Given the description of an element on the screen output the (x, y) to click on. 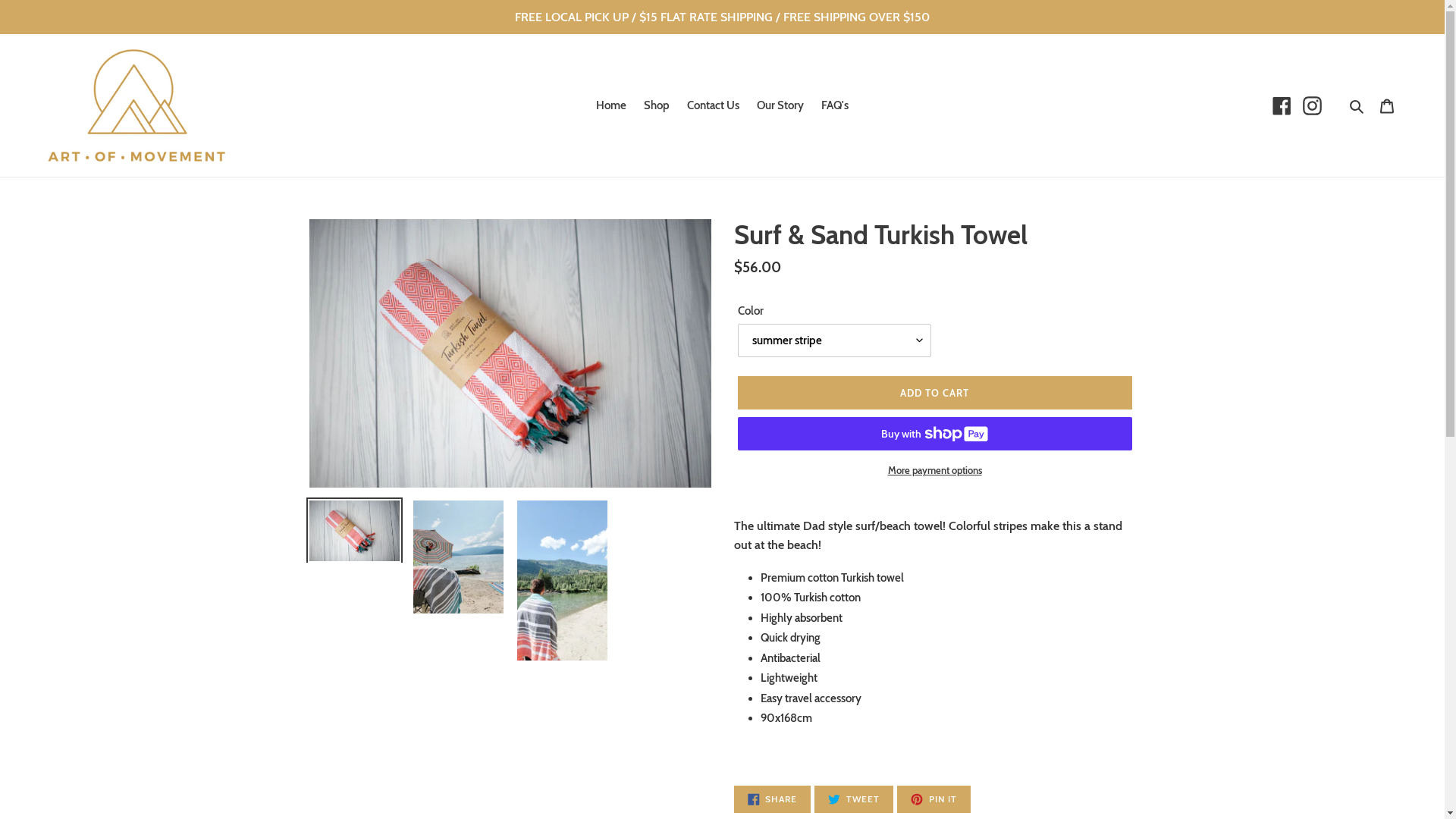
ADD TO CART Element type: text (934, 392)
Our Story Element type: text (780, 105)
Search Element type: text (1357, 105)
PIN IT
PIN ON PINTEREST Element type: text (933, 798)
More payment options Element type: text (934, 470)
TWEET
TWEET ON TWITTER Element type: text (853, 798)
FAQ's Element type: text (834, 105)
Cart Element type: text (1386, 105)
SHARE
SHARE ON FACEBOOK Element type: text (772, 798)
Shop Element type: text (656, 105)
Home Element type: text (610, 105)
Contact Us Element type: text (712, 105)
Facebook Element type: text (1281, 105)
Instagram Element type: text (1311, 105)
